Given the description of an element on the screen output the (x, y) to click on. 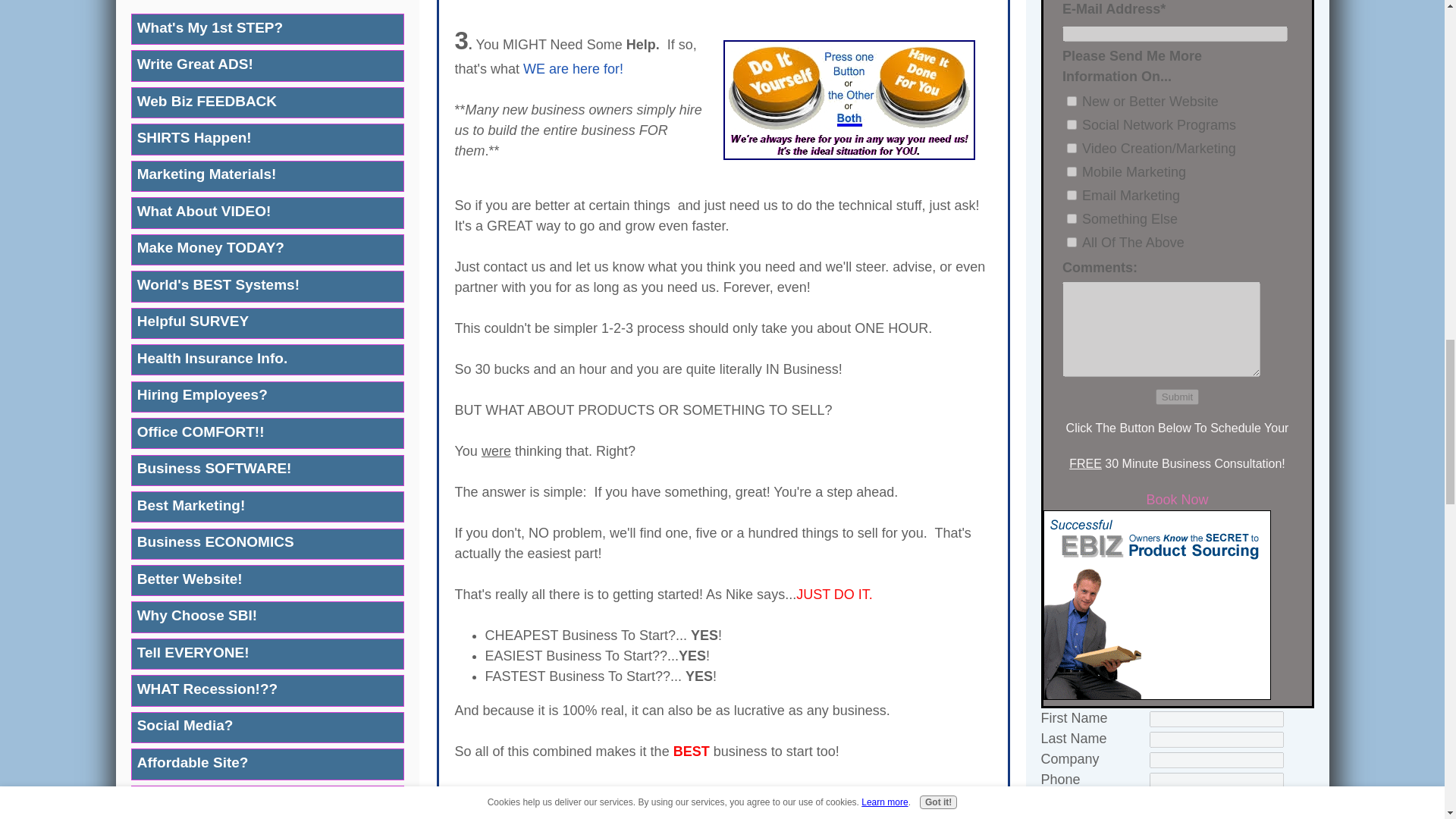
Book Your SEARCHLIGHT Business Advocates Appointment Online (1176, 499)
Something Else (1072, 218)
New or Better Website (1072, 101)
Submit (1177, 396)
Social Network Programs (1072, 124)
Email Marketing (1072, 194)
Mobile Marketing (1072, 171)
What's My 1st STEP? (267, 29)
Write Great ADS! (267, 65)
SHIRTS Happen! (267, 138)
All Of The Above (1072, 242)
Go to whatdoessearch (849, 155)
Web Biz FEEDBACK (267, 101)
WE are here for! (572, 68)
